Given the description of an element on the screen output the (x, y) to click on. 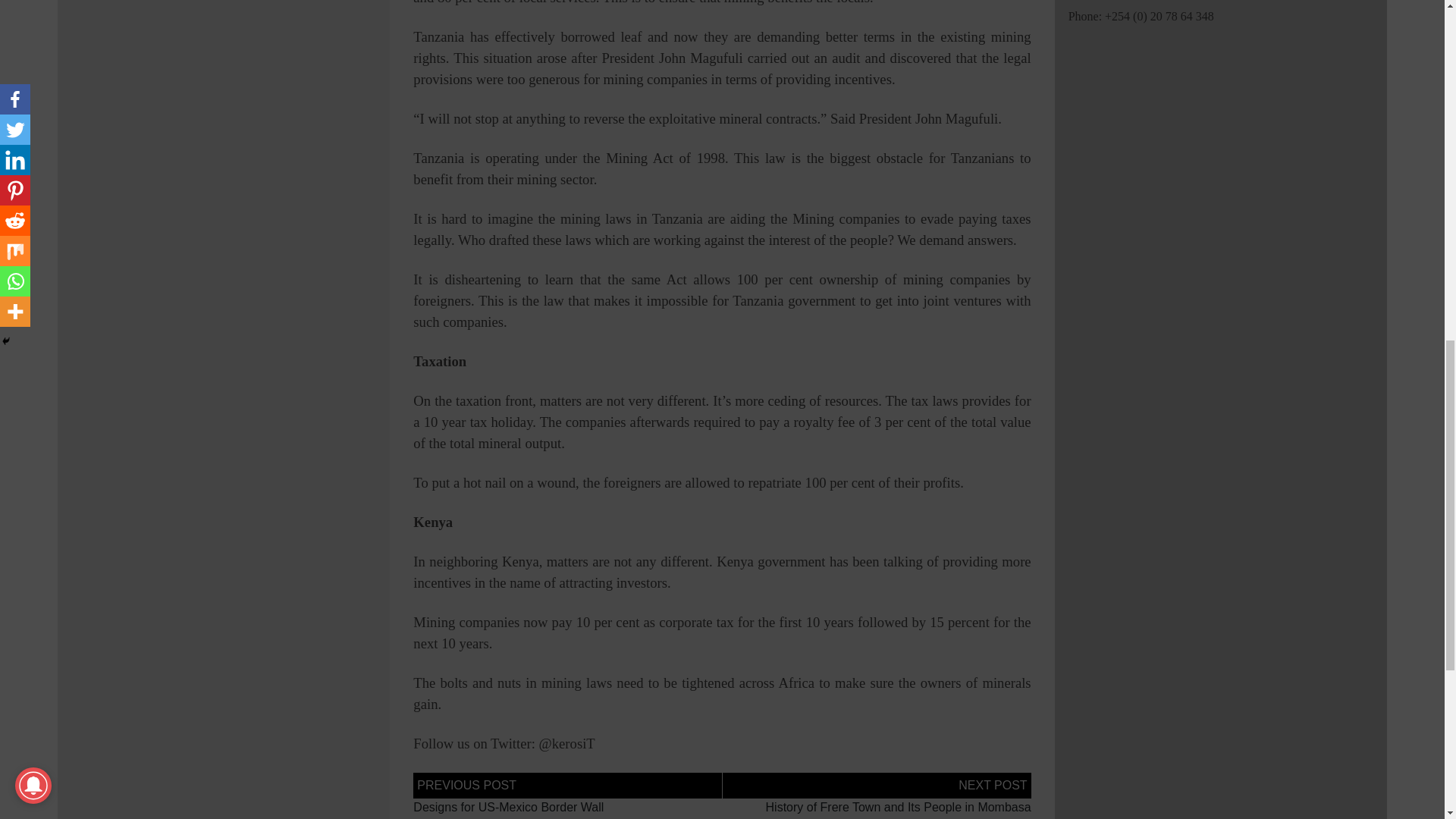
Designs for US-Mexico Border Wall (508, 807)
History of Frere Town and Its People in Mombasa (897, 807)
